Given the description of an element on the screen output the (x, y) to click on. 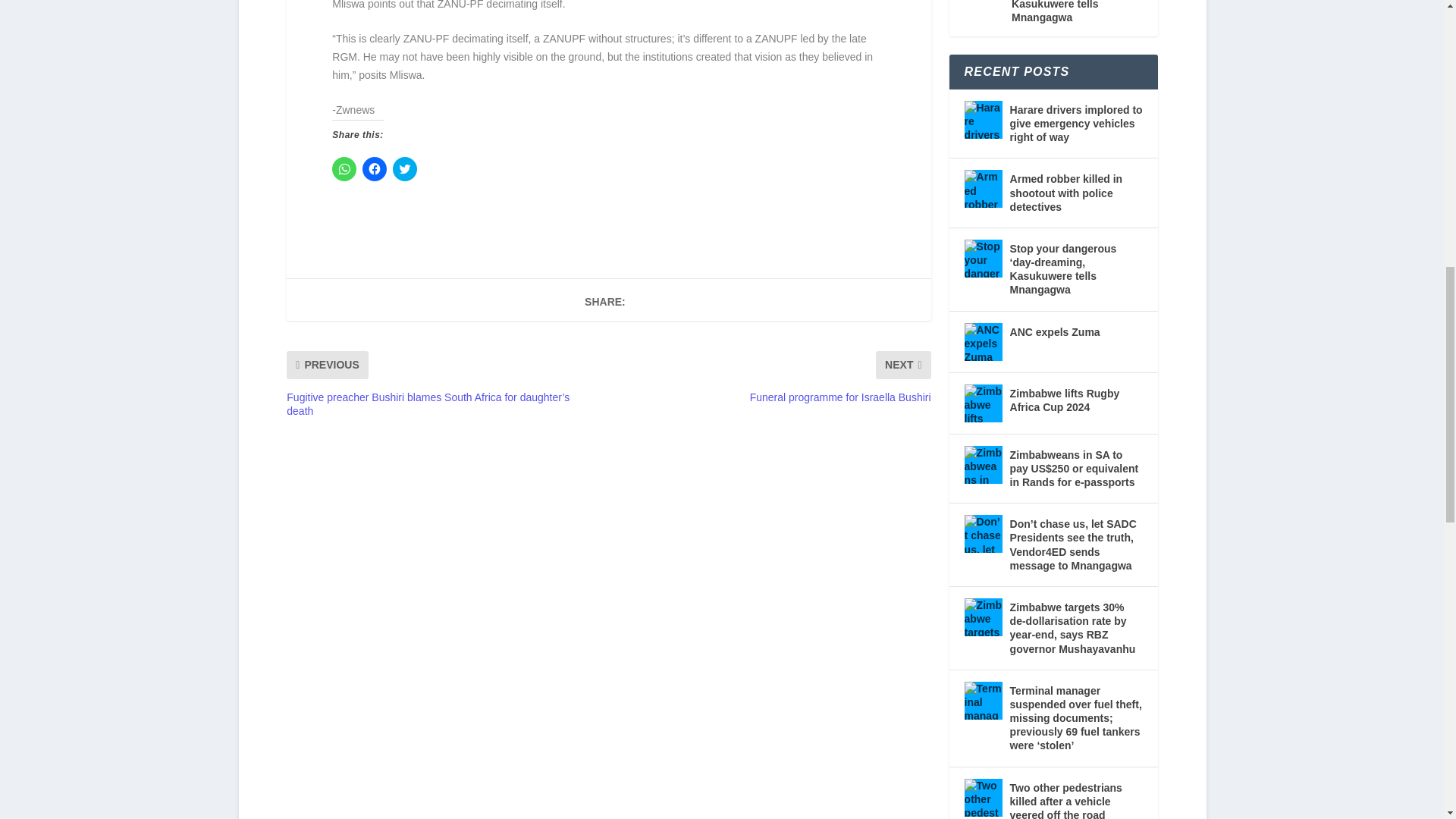
Click to share on WhatsApp (343, 168)
Click to share on Facebook (374, 168)
Click to share on Twitter (404, 168)
